Given the description of an element on the screen output the (x, y) to click on. 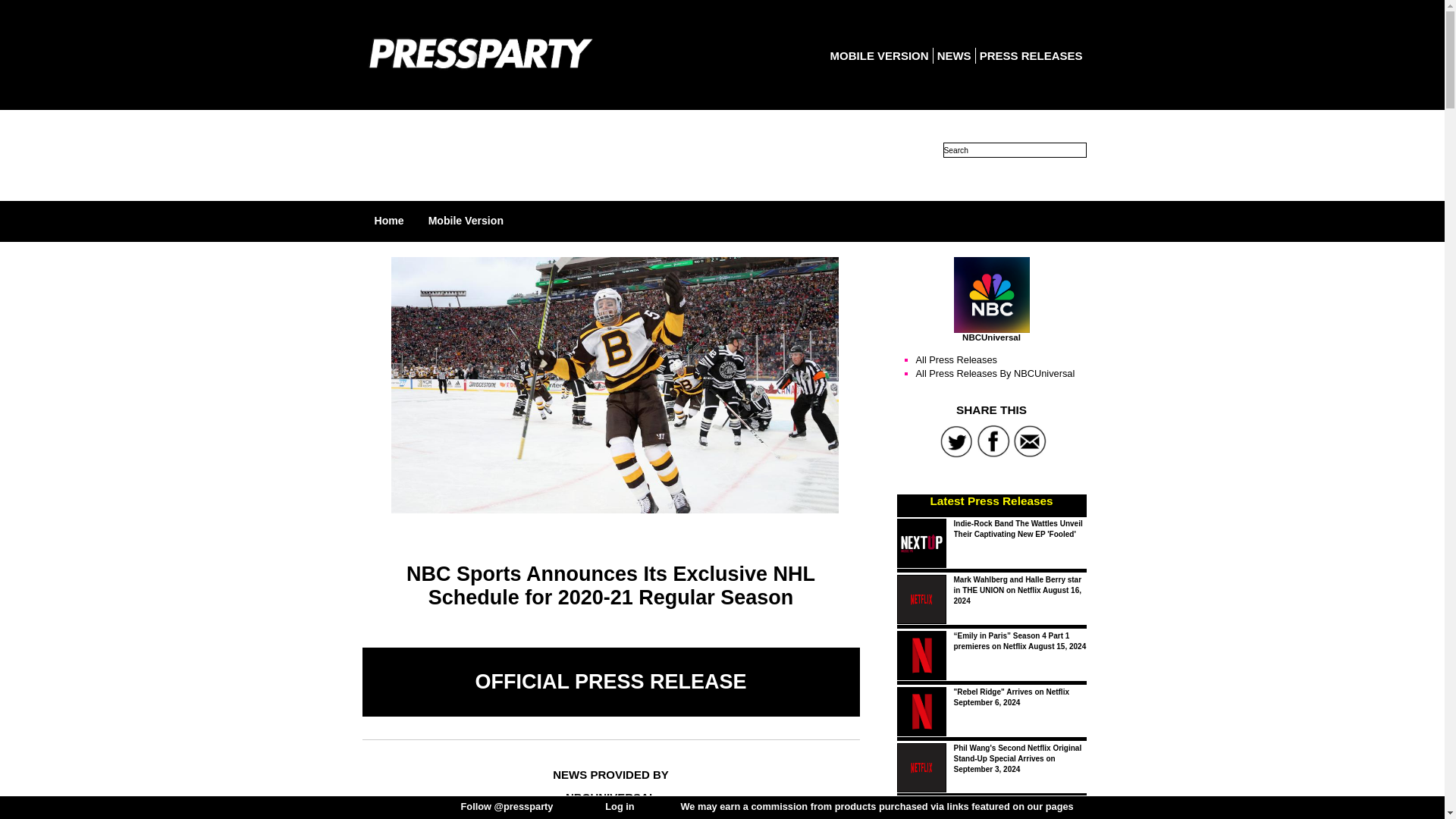
All Press Releases (956, 359)
NBCUniversal (991, 294)
Search (1014, 150)
"Rebel Ridge" Arrives on Netflix September 6, 2024 (1010, 696)
MOBILE VERSION (878, 55)
All Press Releases By NBCUniversal (995, 373)
Mobile Version (465, 220)
Home (389, 220)
PRESS RELEASES (1031, 55)
